Given the description of an element on the screen output the (x, y) to click on. 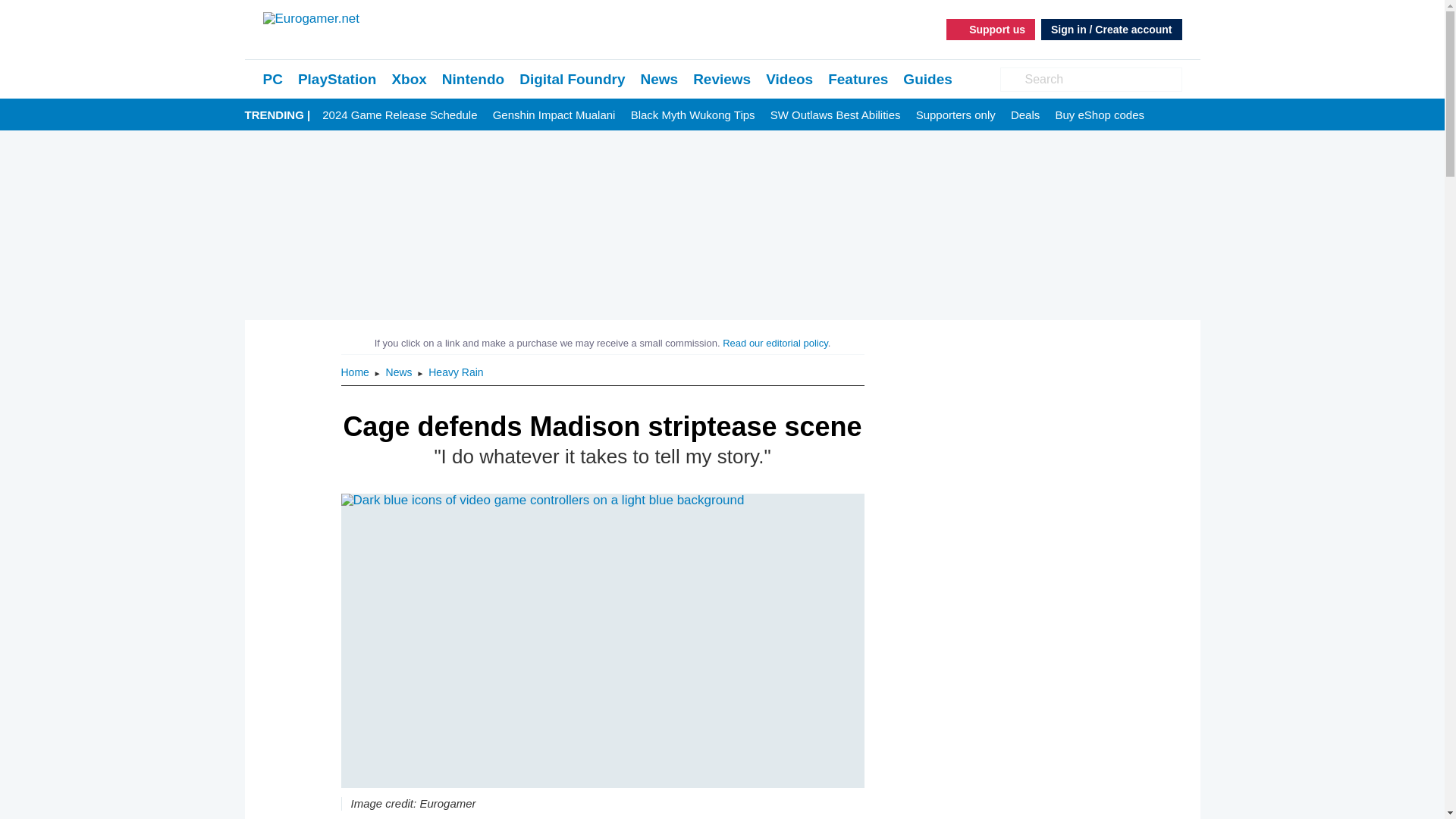
SW Outlaws Best Abilities (835, 114)
2024 Game Release Schedule (399, 114)
SW Outlaws Best Abilities (835, 114)
Black Myth Wukong Tips (692, 114)
Nintendo (472, 78)
Xbox (408, 78)
Black Myth Wukong Tips (692, 114)
Home (356, 372)
Digital Foundry (571, 78)
Reviews (722, 78)
